Given the description of an element on the screen output the (x, y) to click on. 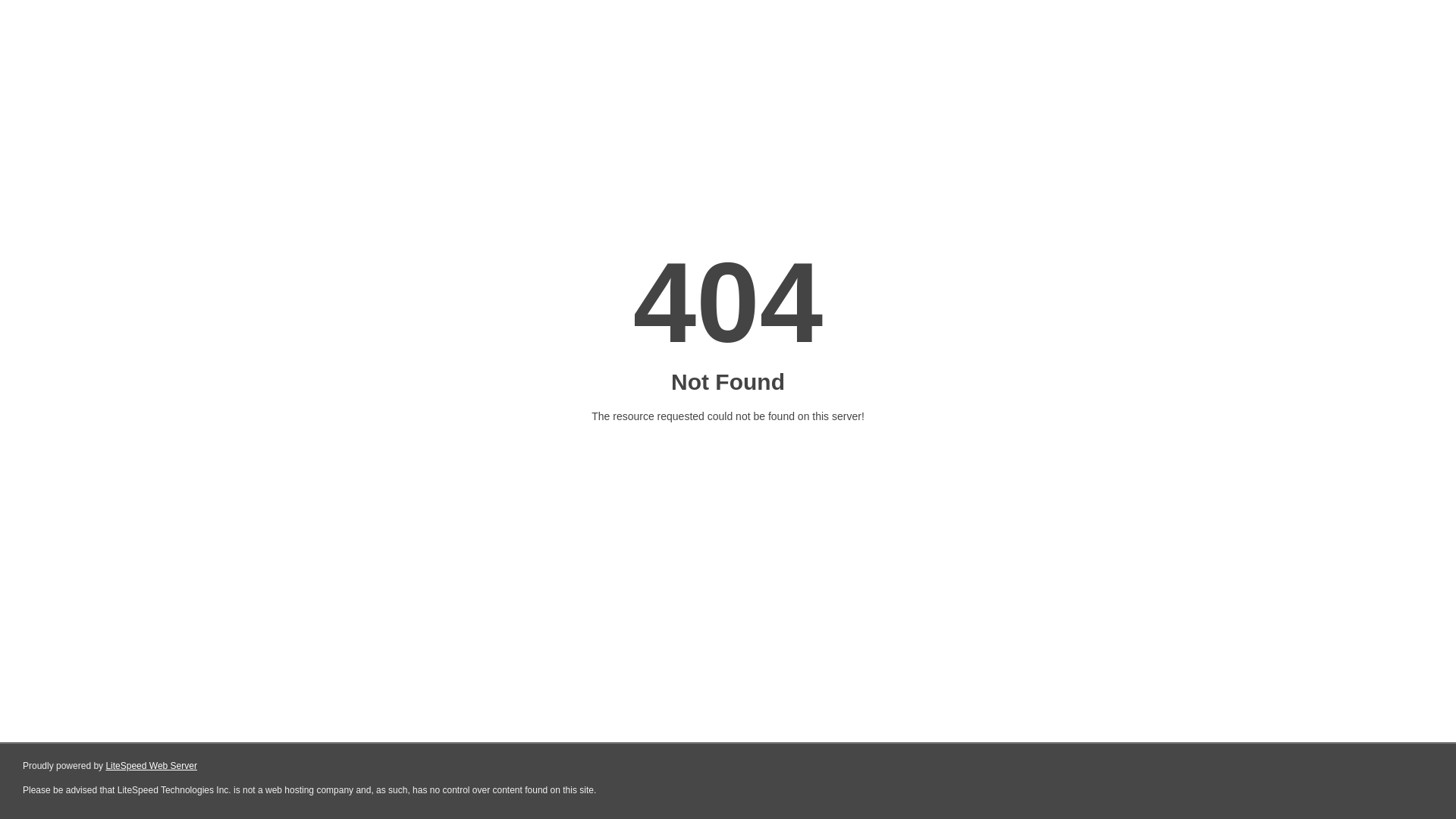
LiteSpeed Web Server Element type: text (151, 765)
